Given the description of an element on the screen output the (x, y) to click on. 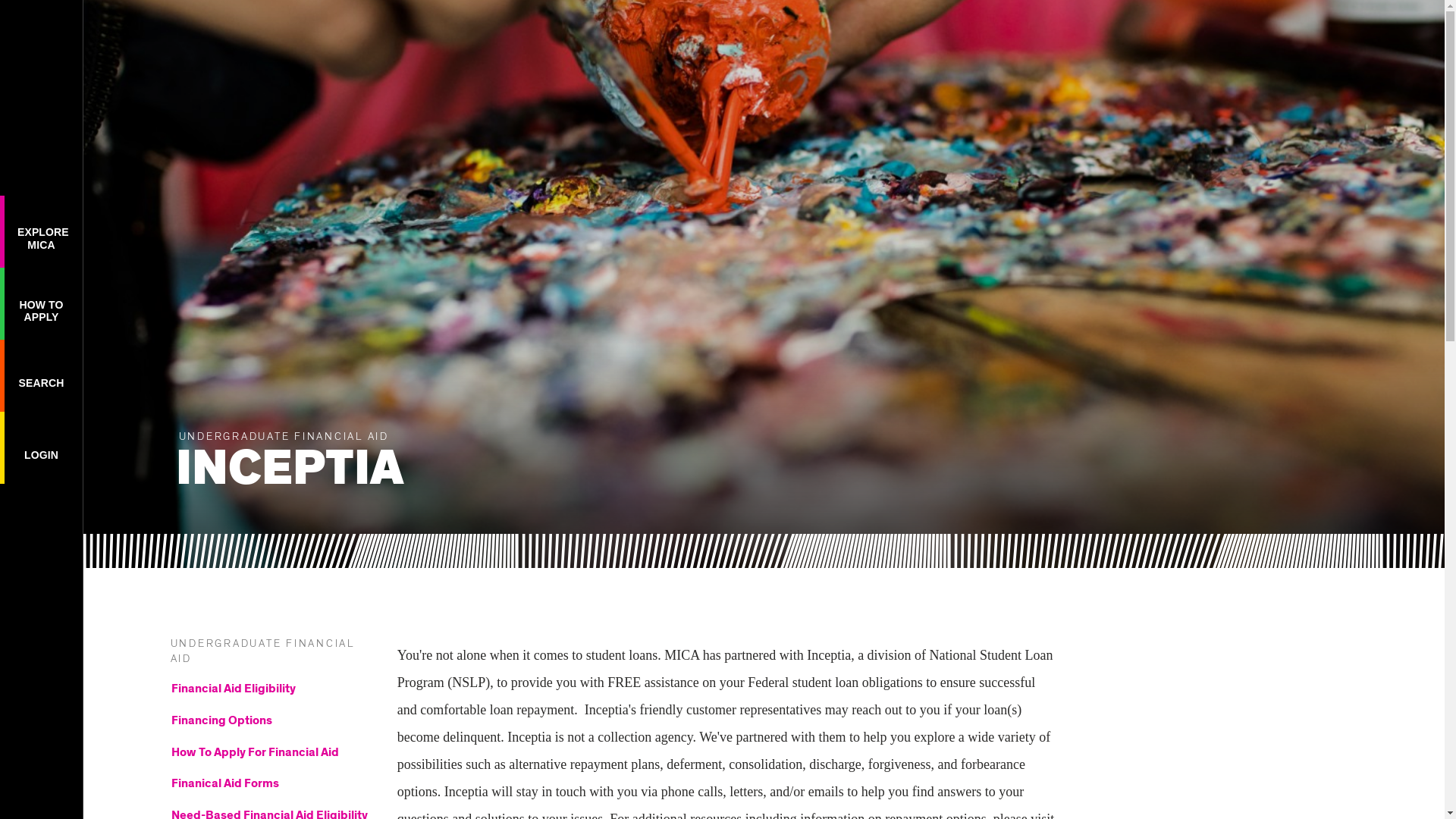
UNDERGRADUATE FINANCIAL AID (262, 651)
How To Apply For Financial Aid (270, 754)
Financing Options (270, 722)
SEARCH (41, 375)
HOW TO APPLY (41, 303)
MICA (40, 31)
Need-Based Financial Aid Eligibility (270, 812)
Finanical Aid Forms (41, 231)
LOGIN (270, 785)
Financial Aid Eligibility (41, 447)
UNDERGRADUATE FINANCIAL AID (270, 691)
